Given the description of an element on the screen output the (x, y) to click on. 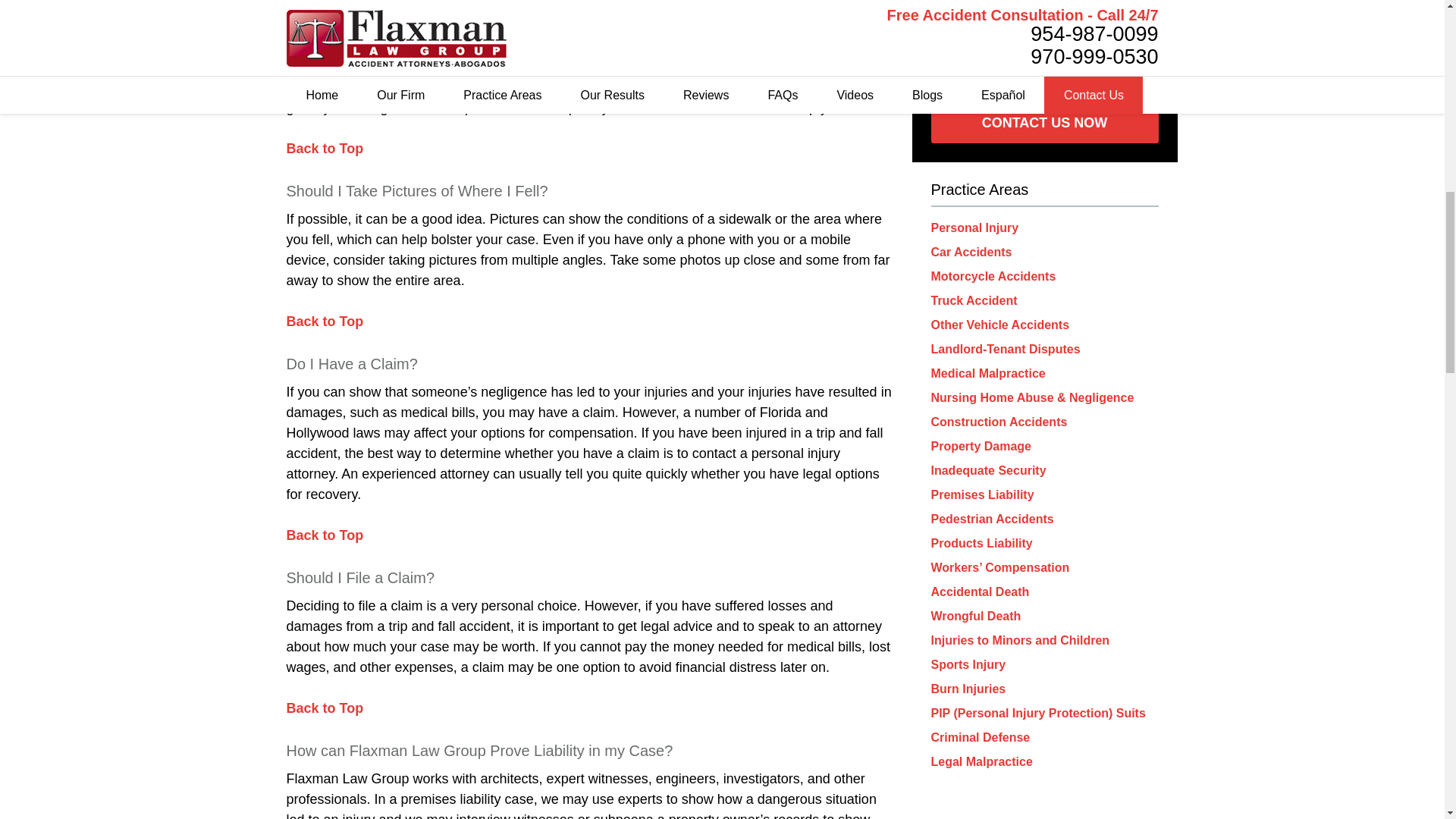
Motorcycle Accidents (994, 276)
Back to Top (325, 534)
Truck Accident (974, 300)
CONTACT US NOW (1044, 123)
Personal Injury (975, 227)
Practice Areas (980, 189)
Back to Top (325, 708)
Car Accidents (971, 251)
Back to Top (325, 148)
Back to Top (325, 321)
